Given the description of an element on the screen output the (x, y) to click on. 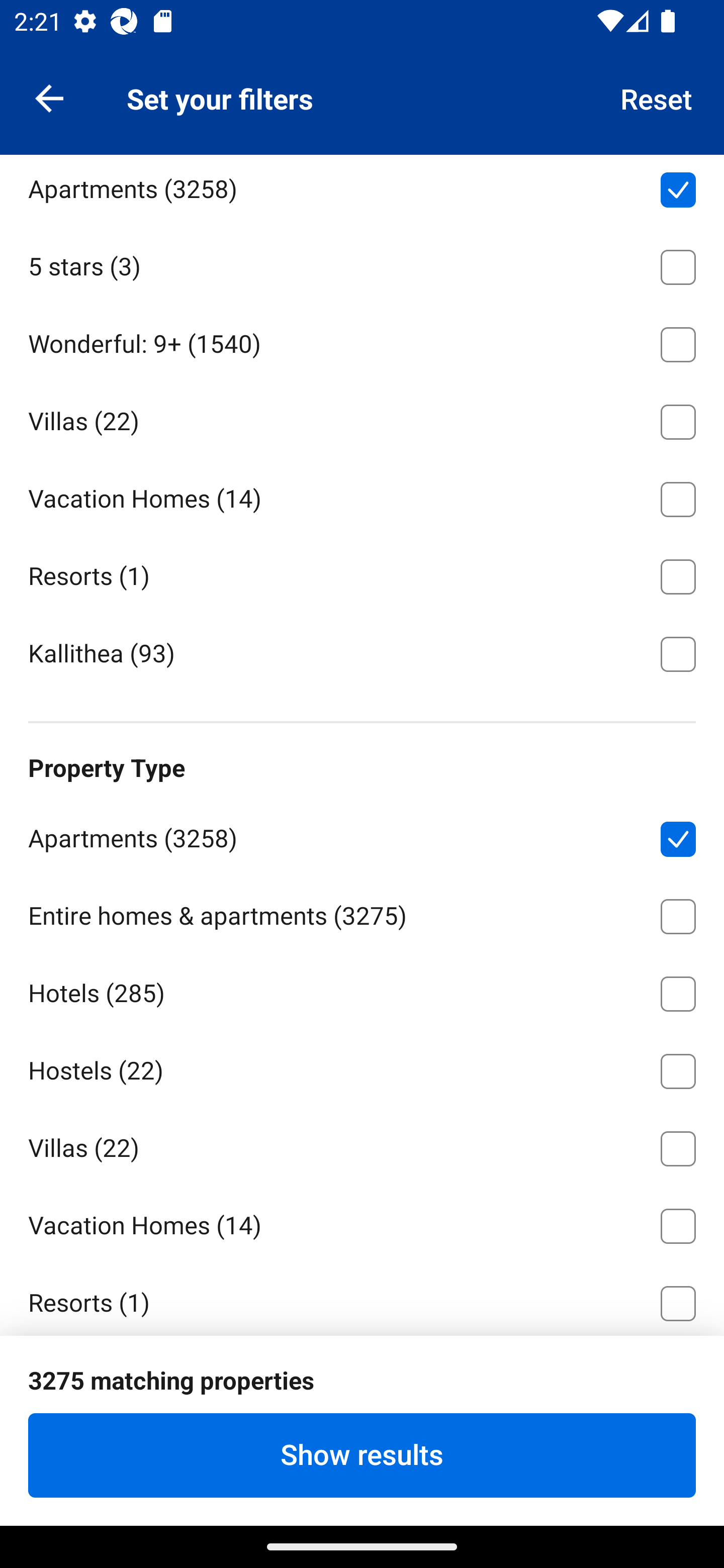
Navigate up (49, 97)
Reset (656, 97)
Hotels ⁦(285) (361, 108)
Apartments ⁦(3258) (361, 190)
5 stars ⁦(3) (361, 263)
Wonderful: 9+ ⁦(1540) (361, 340)
Villas ⁦(22) (361, 418)
Vacation Homes ⁦(14) (361, 495)
Resorts ⁦(1) (361, 572)
Kallithea ⁦(93) (361, 652)
Apartments ⁦(3258) (361, 835)
Entire homes & apartments ⁦(3275) (361, 912)
Hotels ⁦(285) (361, 989)
Hostels ⁦(22) (361, 1067)
Villas ⁦(22) (361, 1145)
Vacation Homes ⁦(14) (361, 1221)
Resorts ⁦(1) (361, 1297)
Bed and Breakfasts ⁦(25) (361, 1377)
Guesthouses ⁦(15) (361, 1454)
